Given the description of an element on the screen output the (x, y) to click on. 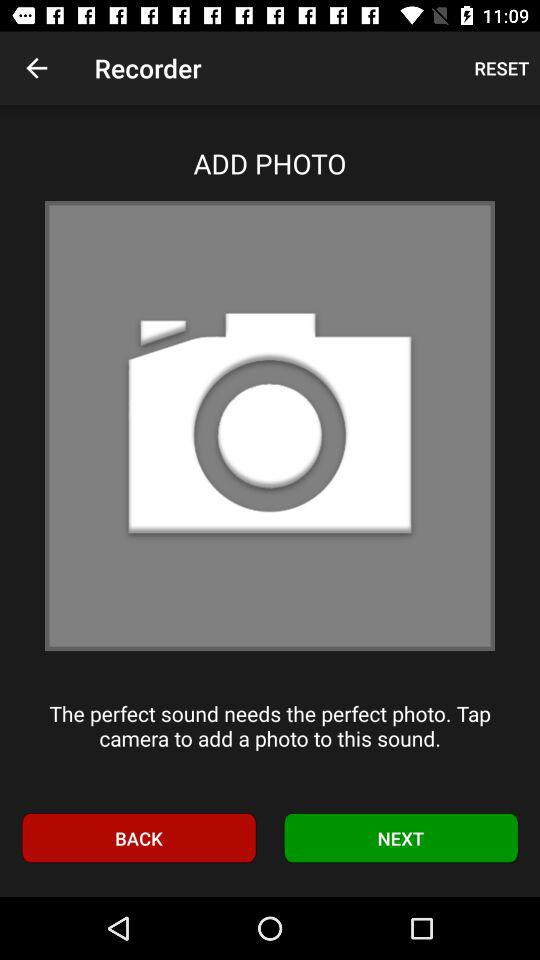
turn on next icon (401, 838)
